Given the description of an element on the screen output the (x, y) to click on. 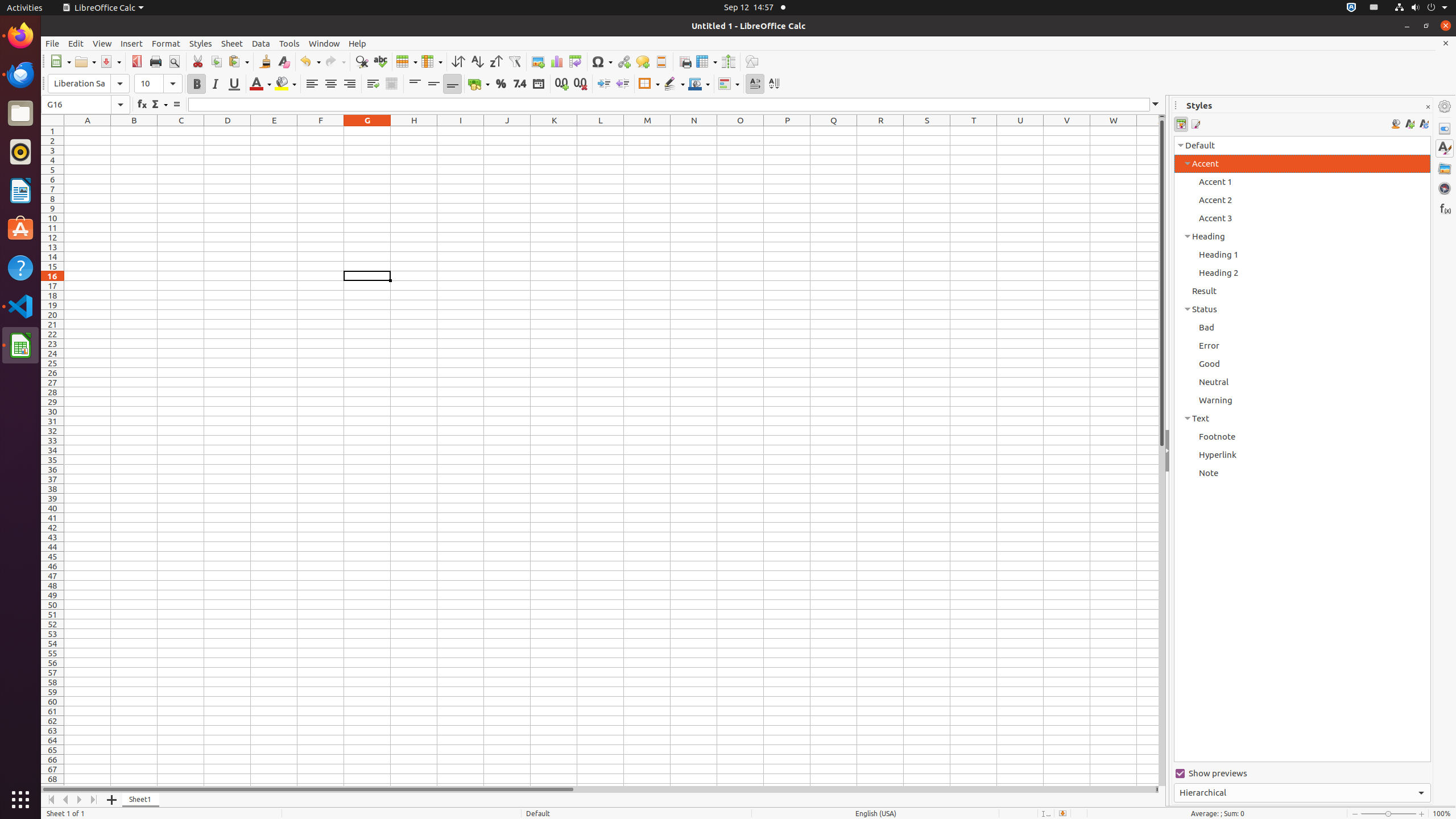
Sheet1 Element type: page-tab (140, 799)
View Element type: menu (102, 43)
O1 Element type: table-cell (740, 130)
Underline Element type: push-button (233, 83)
Align Right Element type: push-button (349, 83)
